Given the description of an element on the screen output the (x, y) to click on. 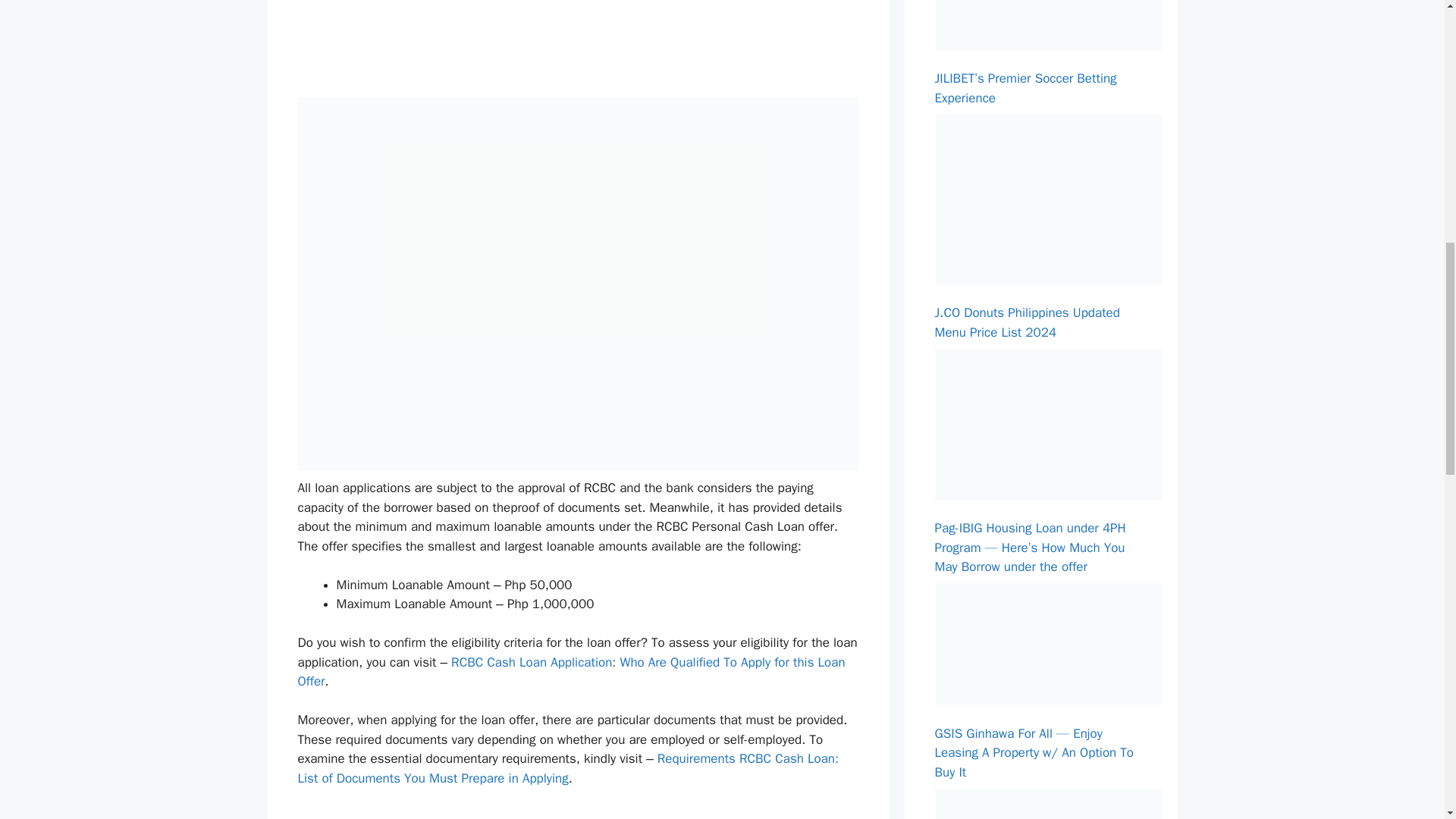
J.CO Donuts Philippines Updated Menu Price List 2024 (1026, 322)
Advertisement (585, 45)
Advertisement (585, 812)
